Given the description of an element on the screen output the (x, y) to click on. 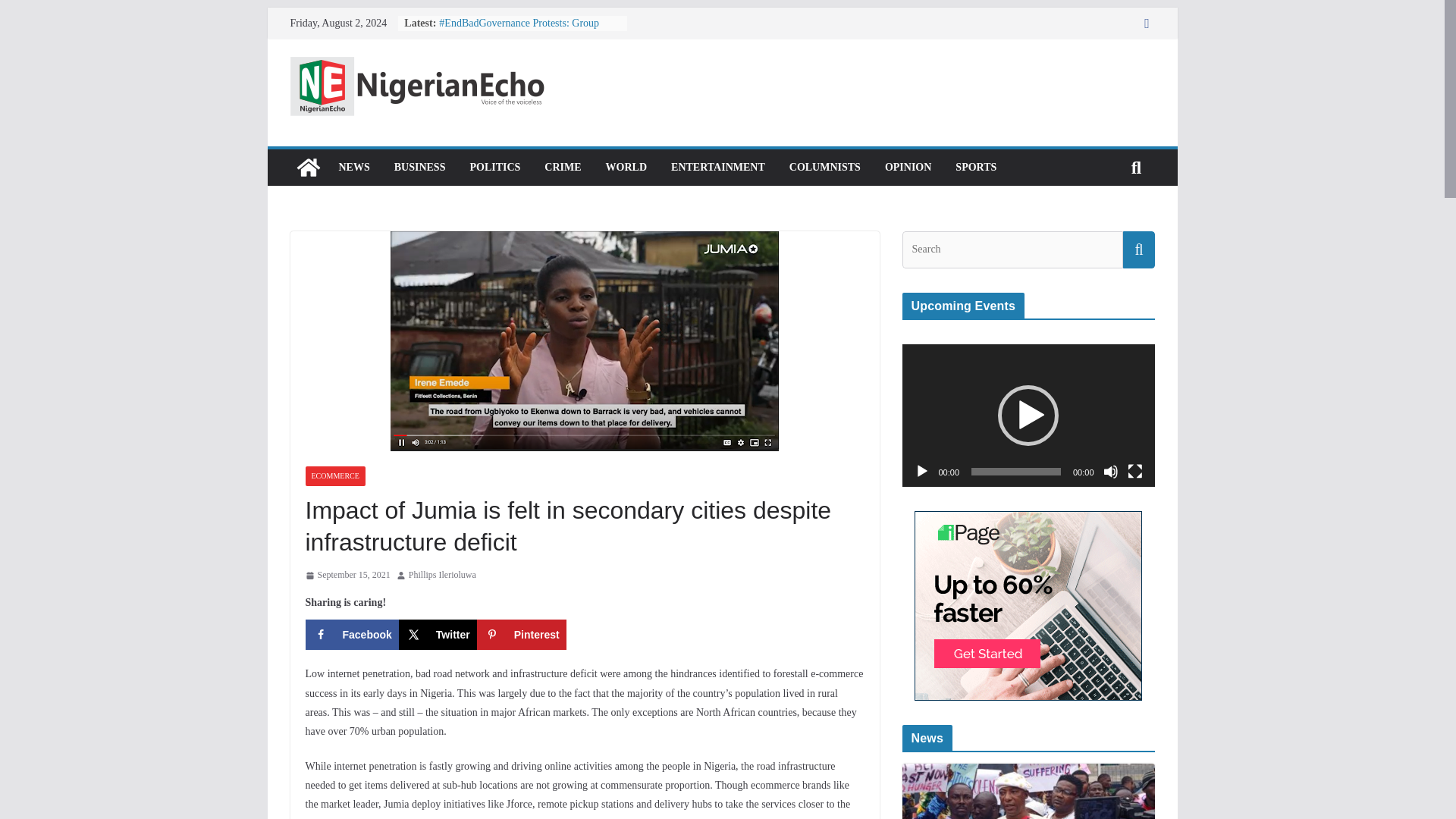
1:13 pm (347, 575)
September 15, 2021 (347, 575)
OPINION (908, 167)
Share on X (437, 634)
Phillips Ilerioluwa (442, 575)
ECOMMERCE (334, 476)
SPORTS (975, 167)
CRIME (562, 167)
ENTERTAINMENT (718, 167)
